Given the description of an element on the screen output the (x, y) to click on. 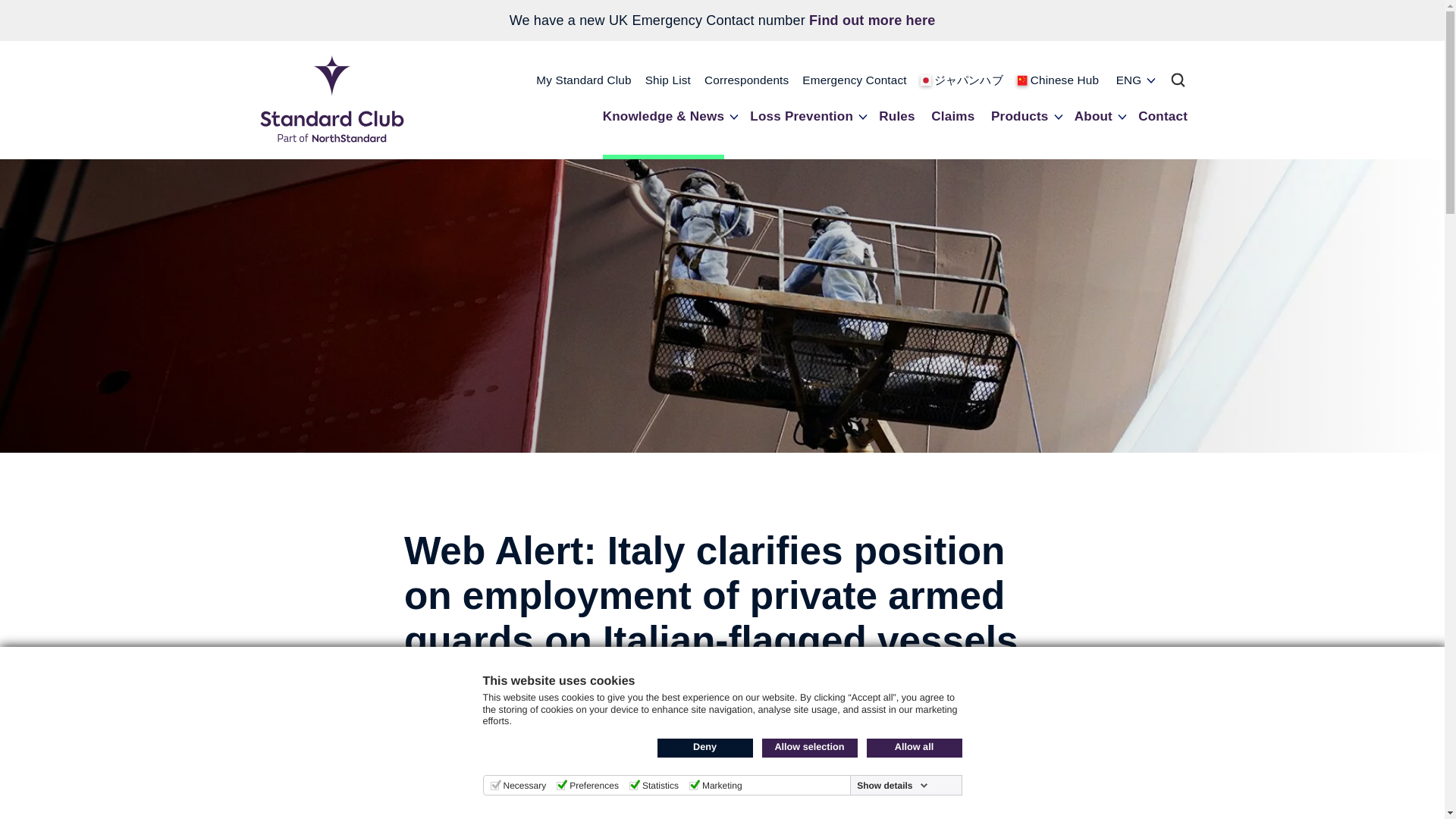
Deny (704, 747)
Allow selection (809, 747)
Show details (891, 785)
Allow all (913, 747)
